Given the description of an element on the screen output the (x, y) to click on. 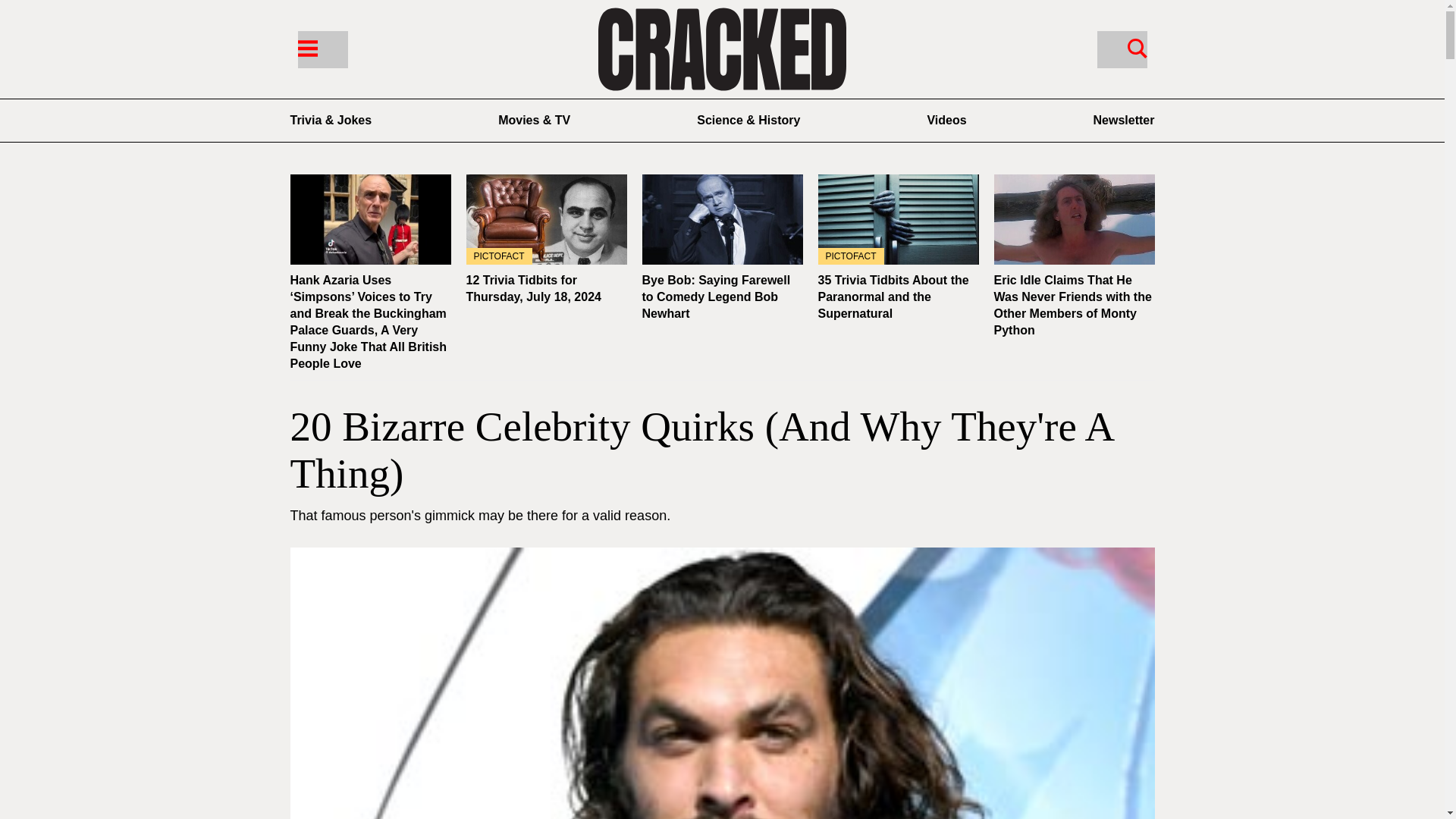
Cracked Newsletter (1123, 119)
12 Trivia Tidbits for Thursday, July 18, 2024 (532, 288)
Videos (946, 119)
Newsletter (1123, 119)
Menu (307, 47)
Search (1136, 47)
12 Trivia Tidbits for Thursday, July 18, 2024 (545, 219)
PICTOFACT (897, 219)
35 Trivia Tidbits About the Paranormal and the Supernatural (892, 296)
Search (1121, 48)
PICTOFACT (545, 219)
Bye Bob: Saying Farewell to Comedy Legend Bob Newhart (716, 296)
Menu (322, 48)
Videos (946, 119)
